Given the description of an element on the screen output the (x, y) to click on. 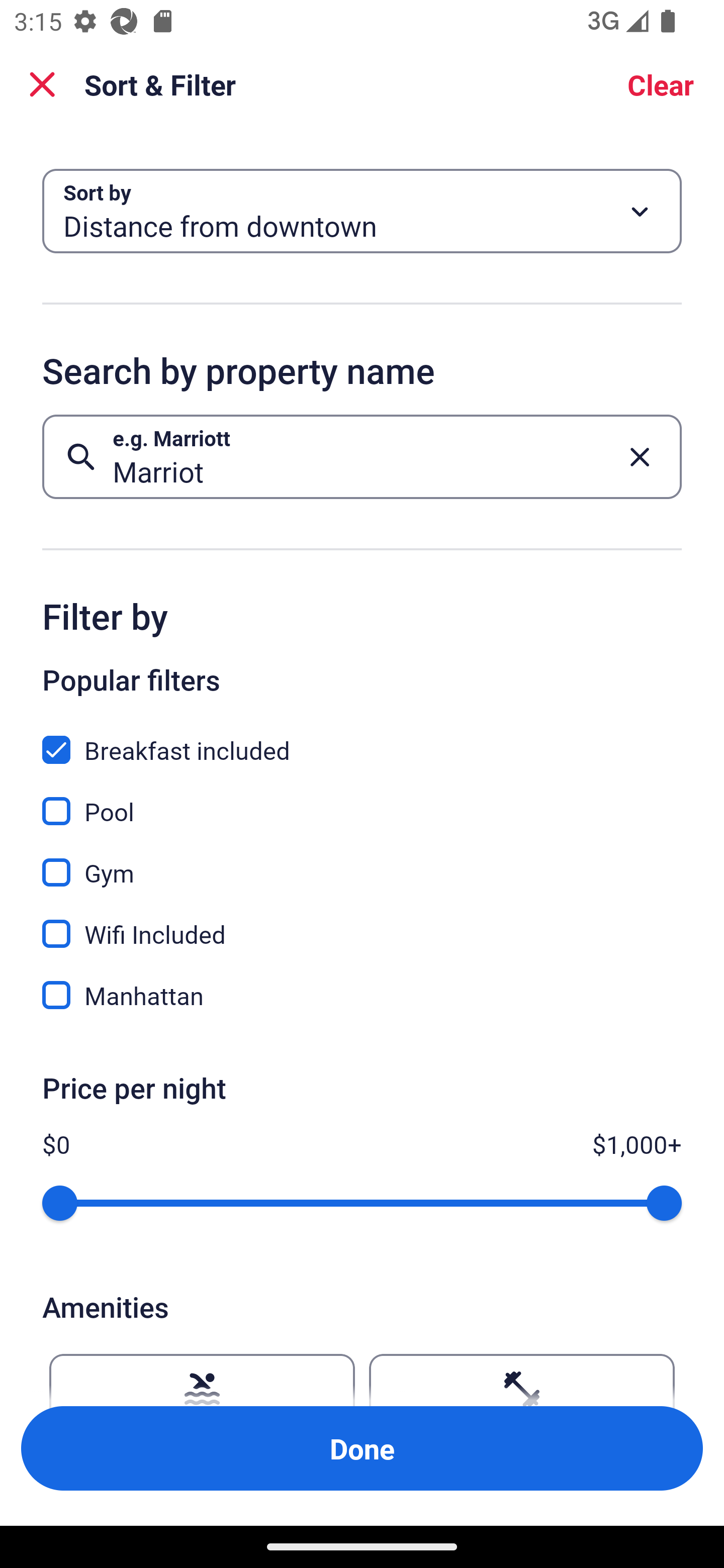
Close Sort and Filter (42, 84)
Clear (660, 84)
Sort by Button Distance from downtown (361, 211)
e.g. Marriott Button Marriot (361, 455)
Breakfast included, Breakfast included (361, 738)
Pool, Pool (361, 800)
Gym, Gym (361, 861)
Wifi Included, Wifi Included (361, 922)
Manhattan, Manhattan (361, 995)
Apply and close Sort and Filter Done (361, 1448)
